Given the description of an element on the screen output the (x, y) to click on. 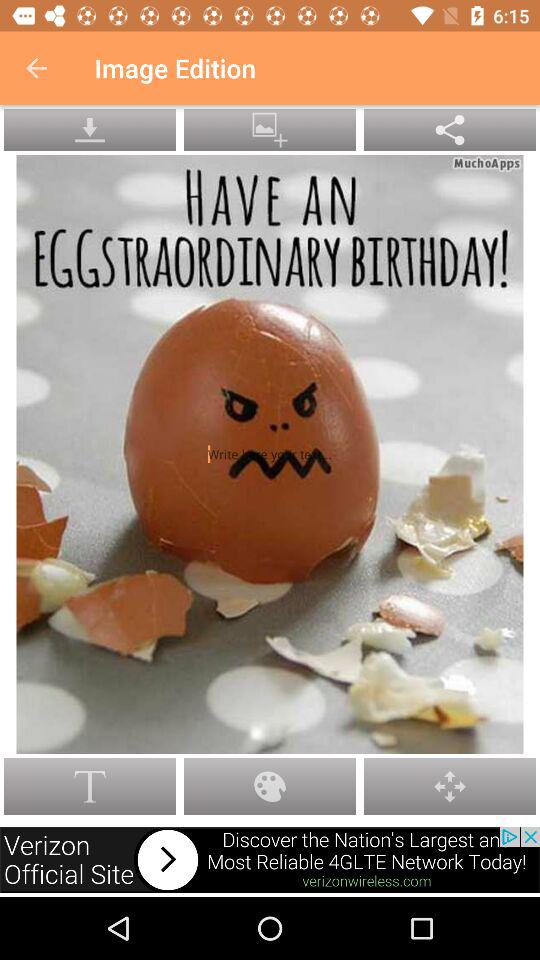
type text to display (269, 454)
